Given the description of an element on the screen output the (x, y) to click on. 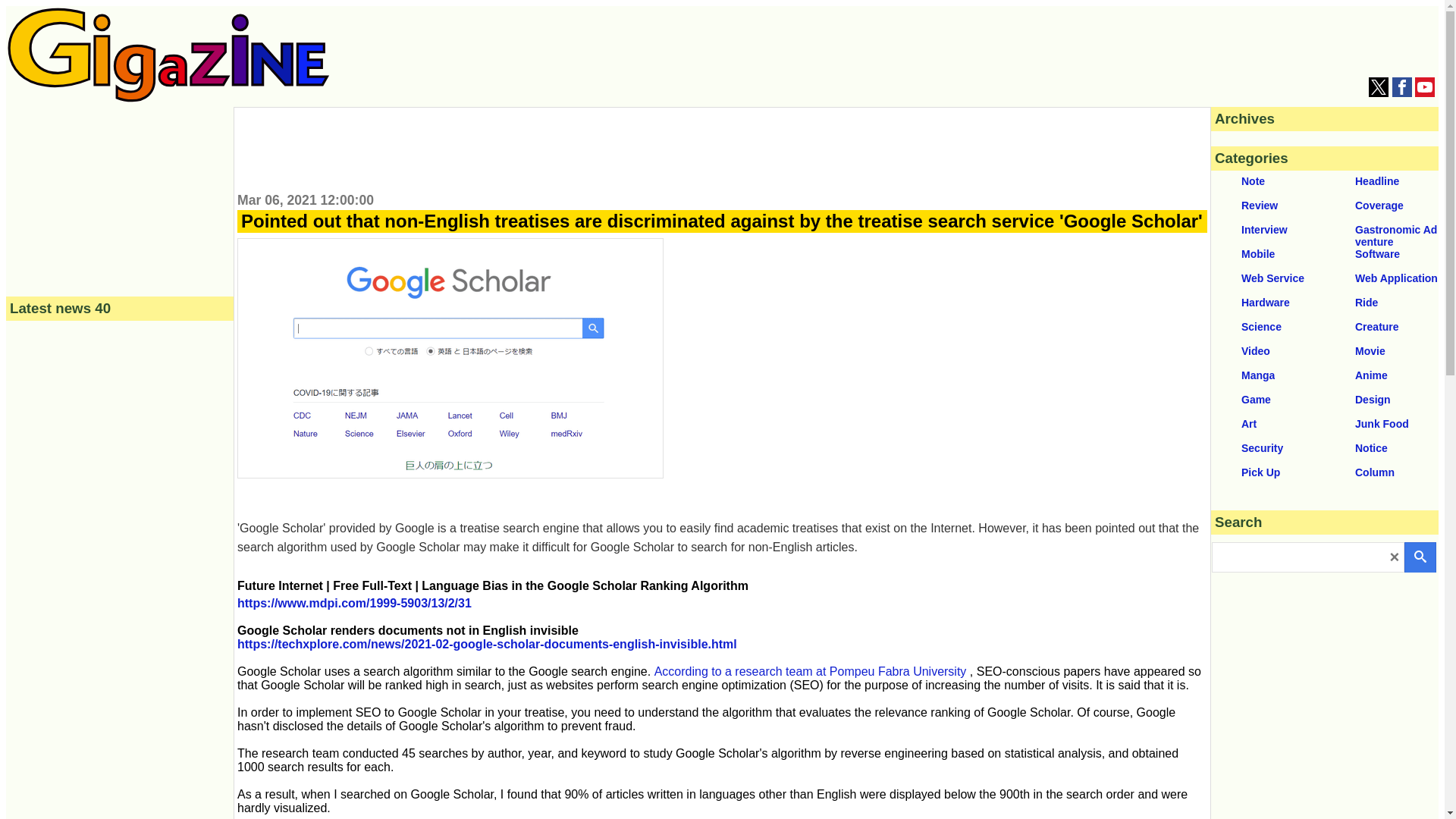
According to a research team at Pompeu Fabra University (809, 671)
Note (1267, 182)
GIGAZINE (168, 54)
GIGAZINE (168, 97)
Review (1267, 207)
Interview (1267, 231)
